Given the description of an element on the screen output the (x, y) to click on. 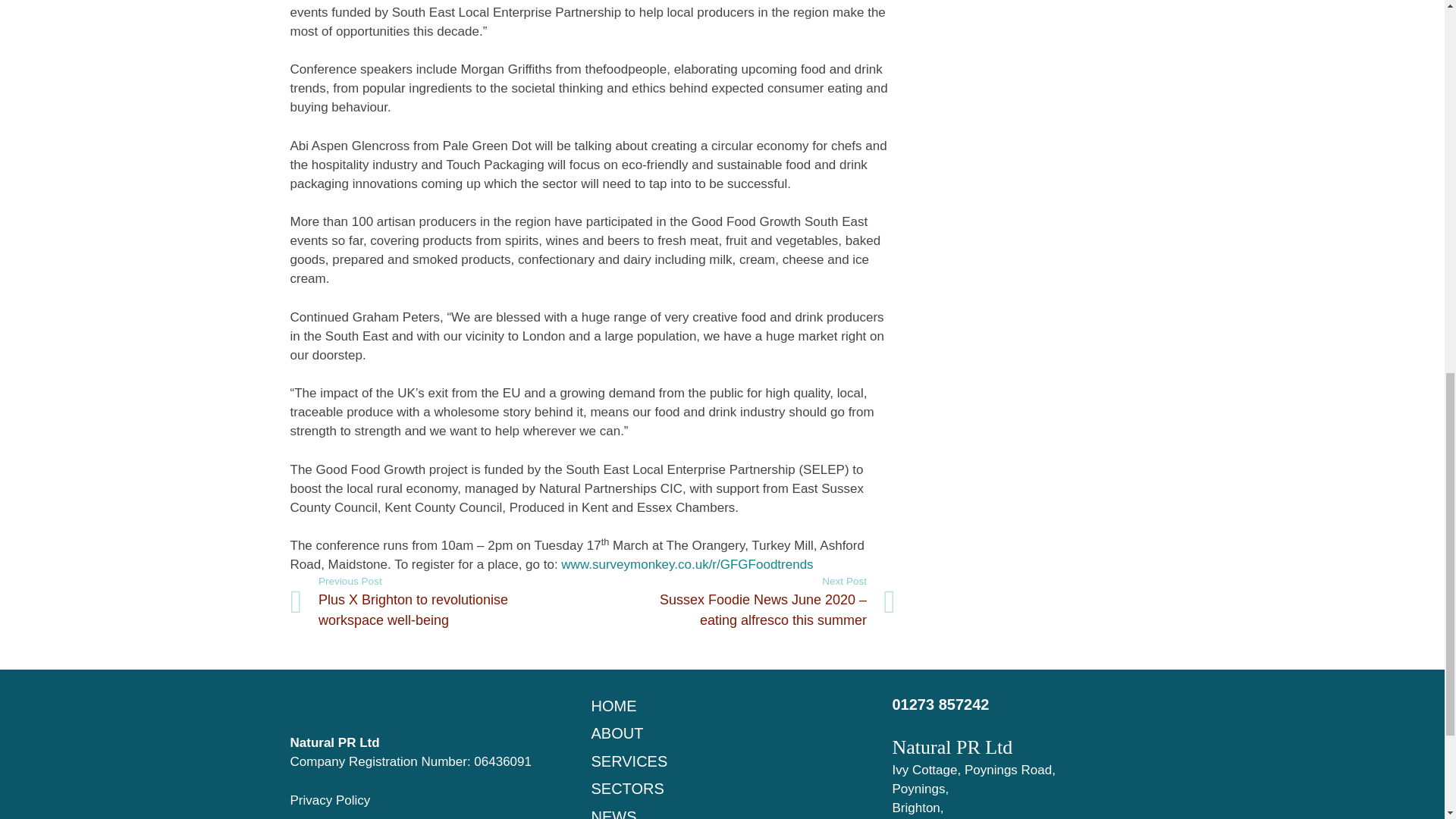
HOME (613, 705)
Plus X Brighton to revolutionise workspace well-being (440, 601)
SERVICES (628, 760)
SECTORS (627, 788)
NEWS (613, 813)
Back to top (1413, 26)
ABOUT (617, 733)
Privacy Policy (329, 800)
